Given the description of an element on the screen output the (x, y) to click on. 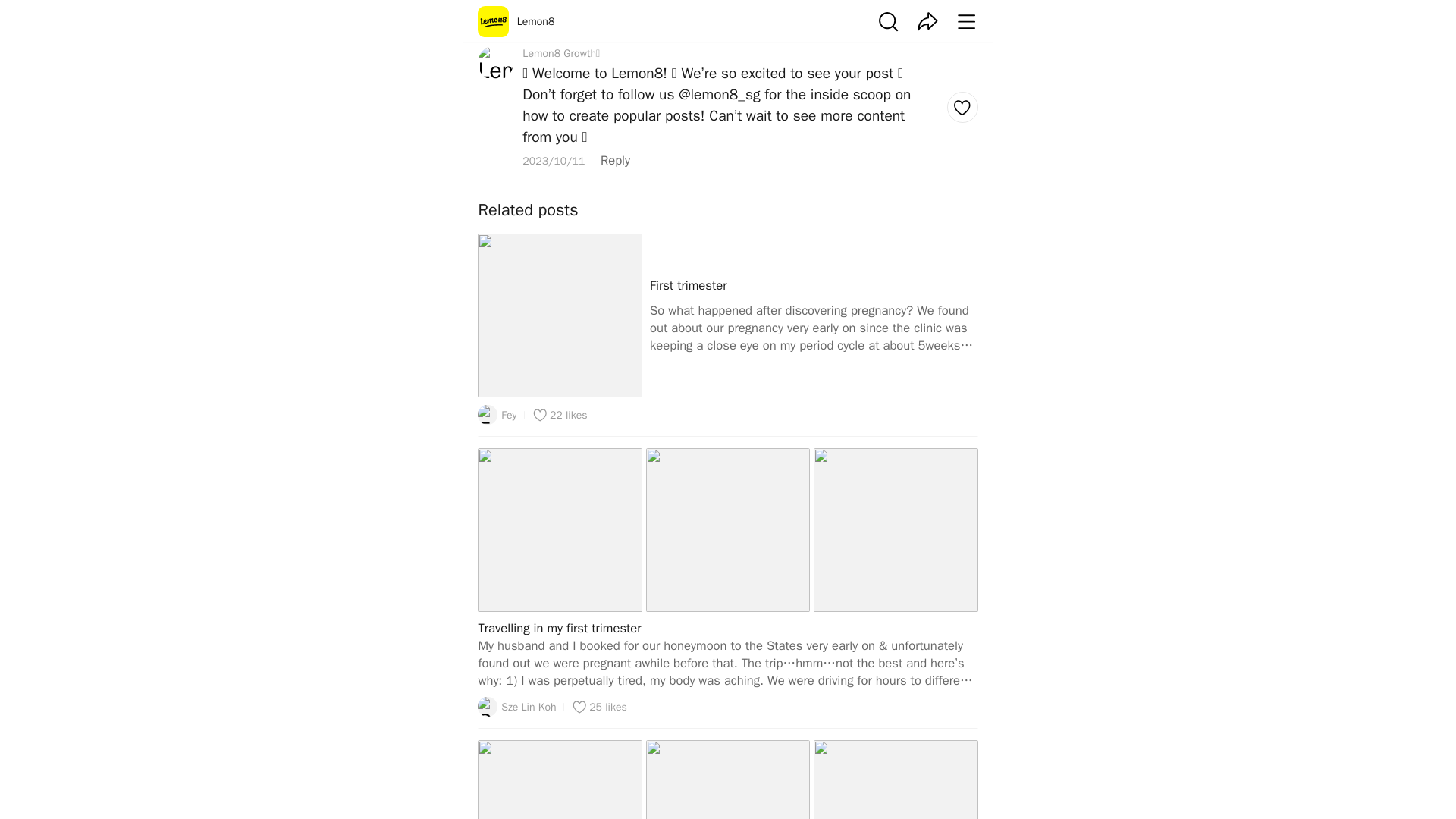
Sze Lin Koh (516, 706)
Fey (496, 414)
